Given the description of an element on the screen output the (x, y) to click on. 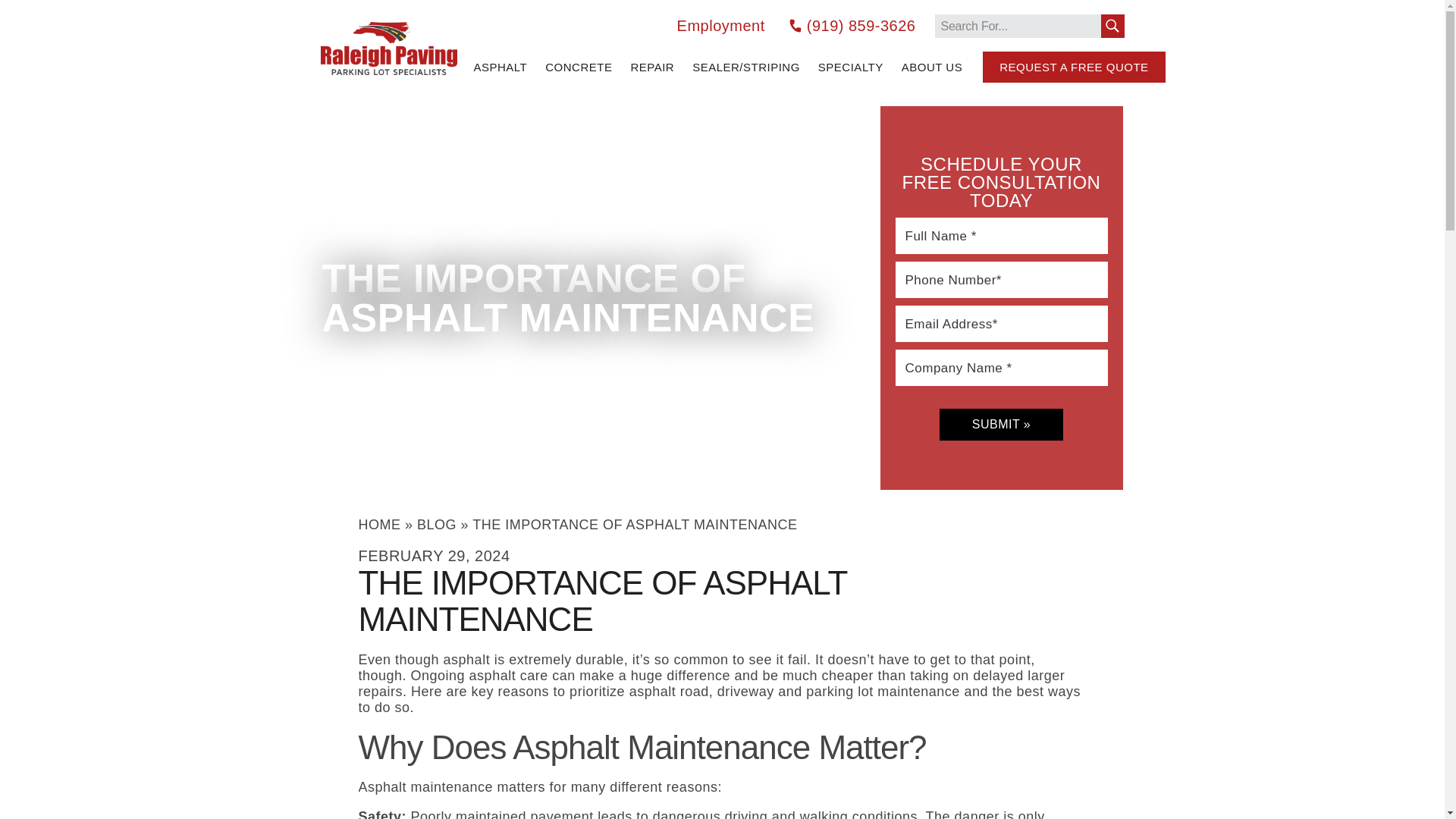
phone (795, 25)
Search (1112, 24)
ASPHALT (499, 66)
Raleigh Paving (388, 48)
Employment (721, 25)
REPAIR (651, 66)
ABOUT US (931, 66)
SPECIALTY (850, 66)
CONCRETE (578, 66)
